Given the description of an element on the screen output the (x, y) to click on. 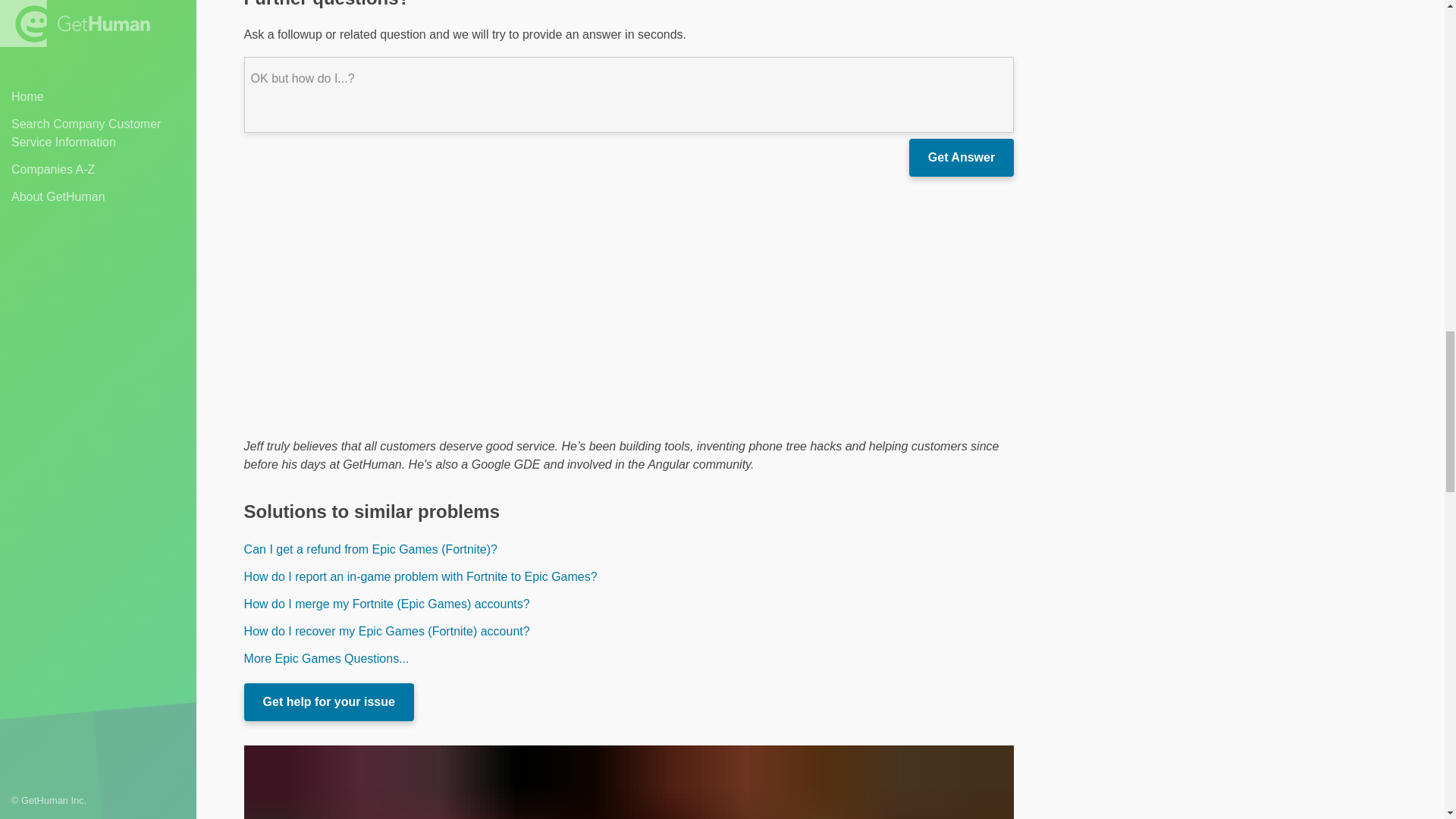
Get Answer (960, 157)
Get Answer (960, 157)
More Epic Games Questions... (629, 658)
Get help for your issue (328, 702)
Answers to many Epic Games customer service problems (629, 658)
Help with your Epic Games customer service issue (328, 702)
